Given the description of an element on the screen output the (x, y) to click on. 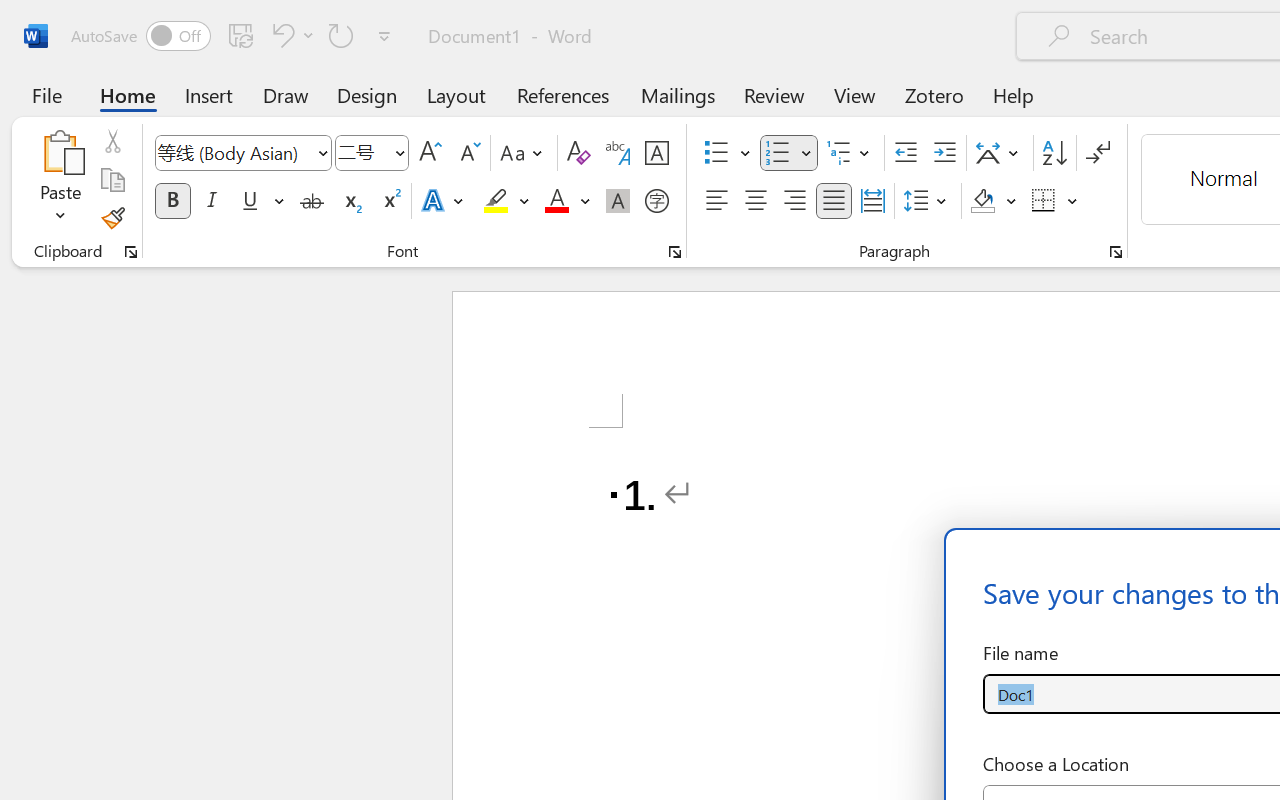
Undo Number Default (290, 35)
Repeat Number Default (341, 35)
Undo Number Default (280, 35)
